Given the description of an element on the screen output the (x, y) to click on. 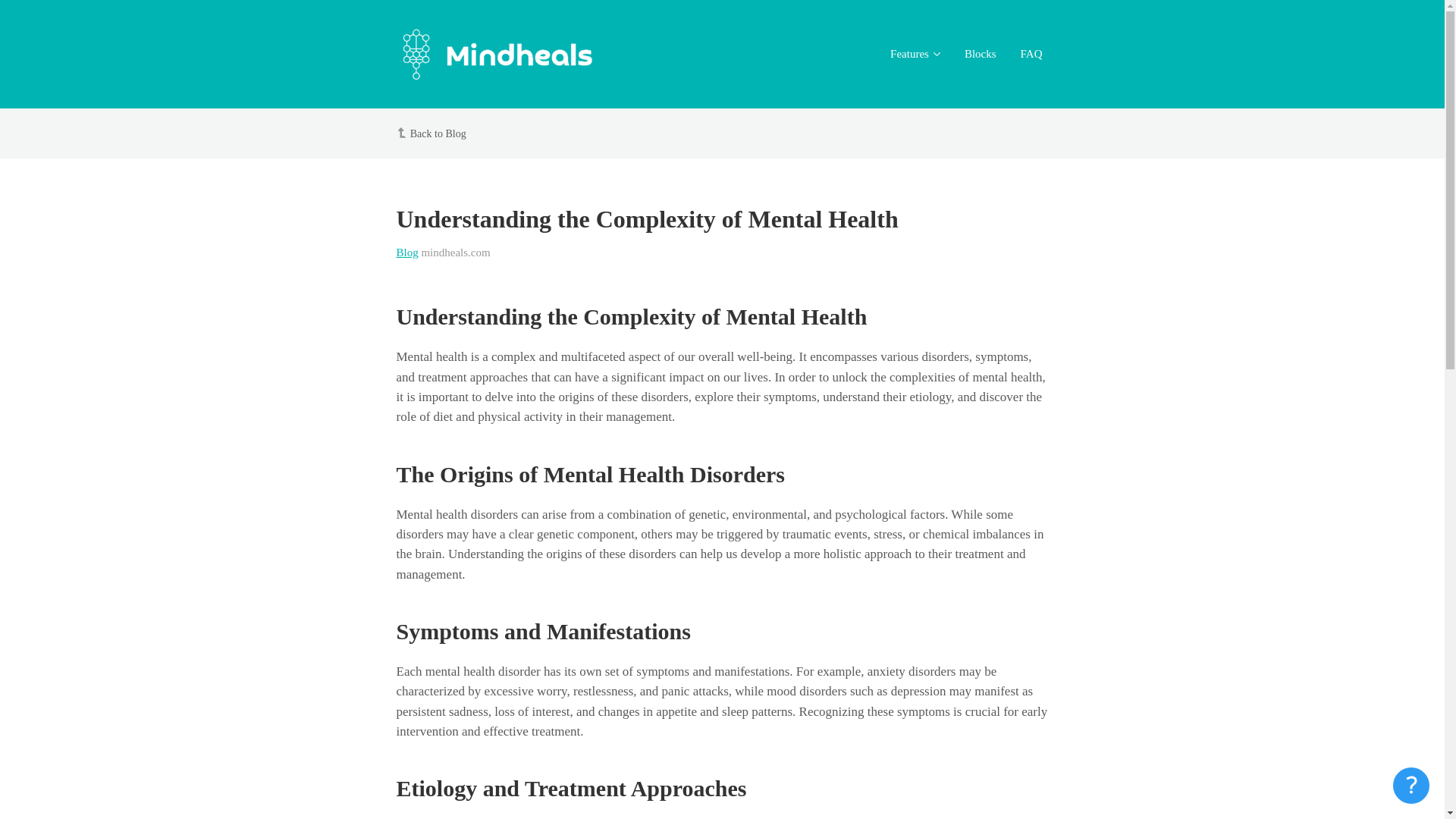
Blog (406, 252)
Features (914, 54)
Blocks (980, 54)
FAQ (1031, 54)
Back to Blog (437, 133)
